Given the description of an element on the screen output the (x, y) to click on. 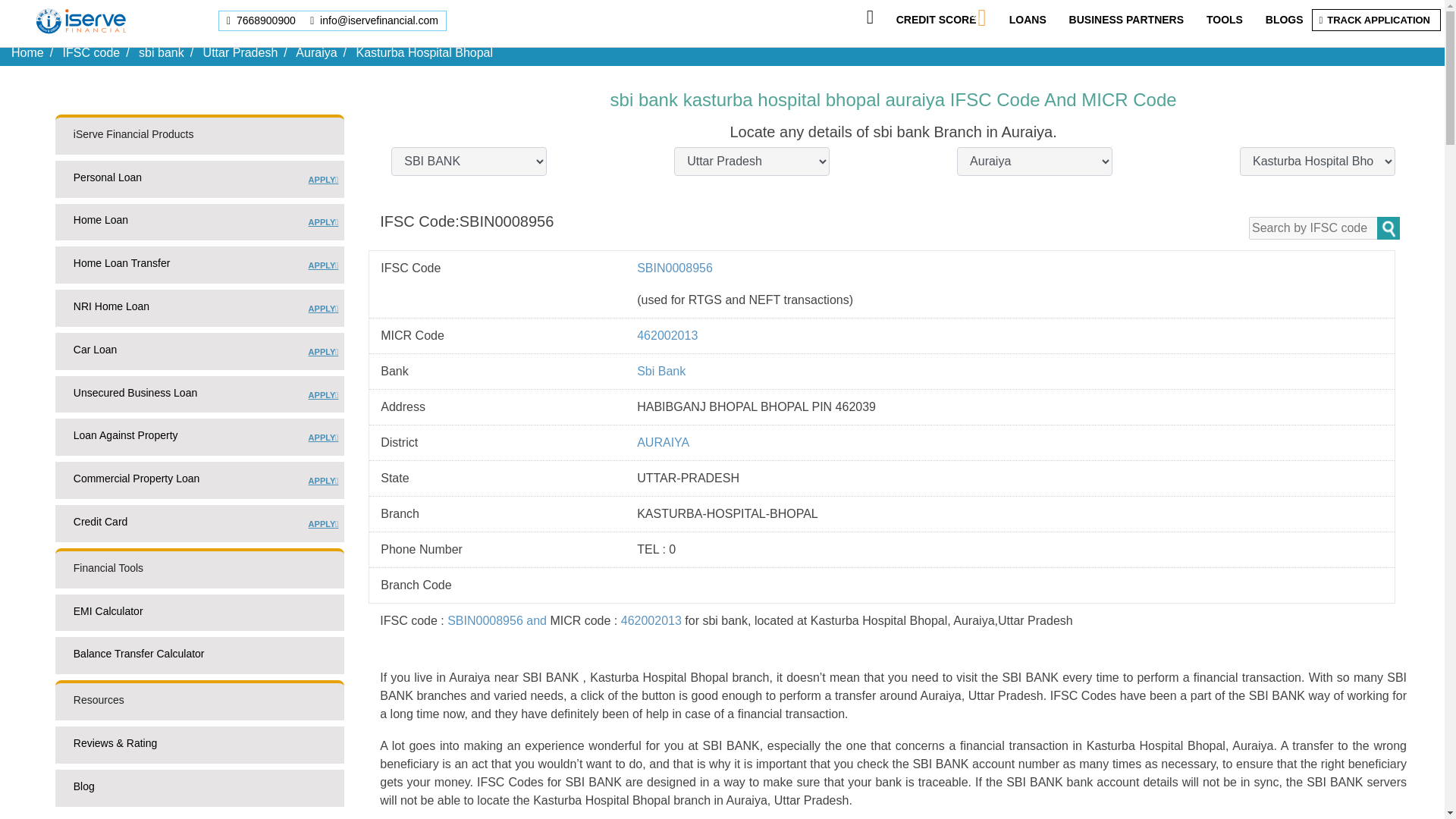
Home (27, 51)
Auraiya (315, 51)
 7668900900 (262, 20)
BLOGS (1284, 19)
BUSINESS PARTNERS (199, 225)
CREDIT SCORE (199, 181)
TRACK APPLICATION (1125, 19)
IFSC code (936, 19)
